Given the description of an element on the screen output the (x, y) to click on. 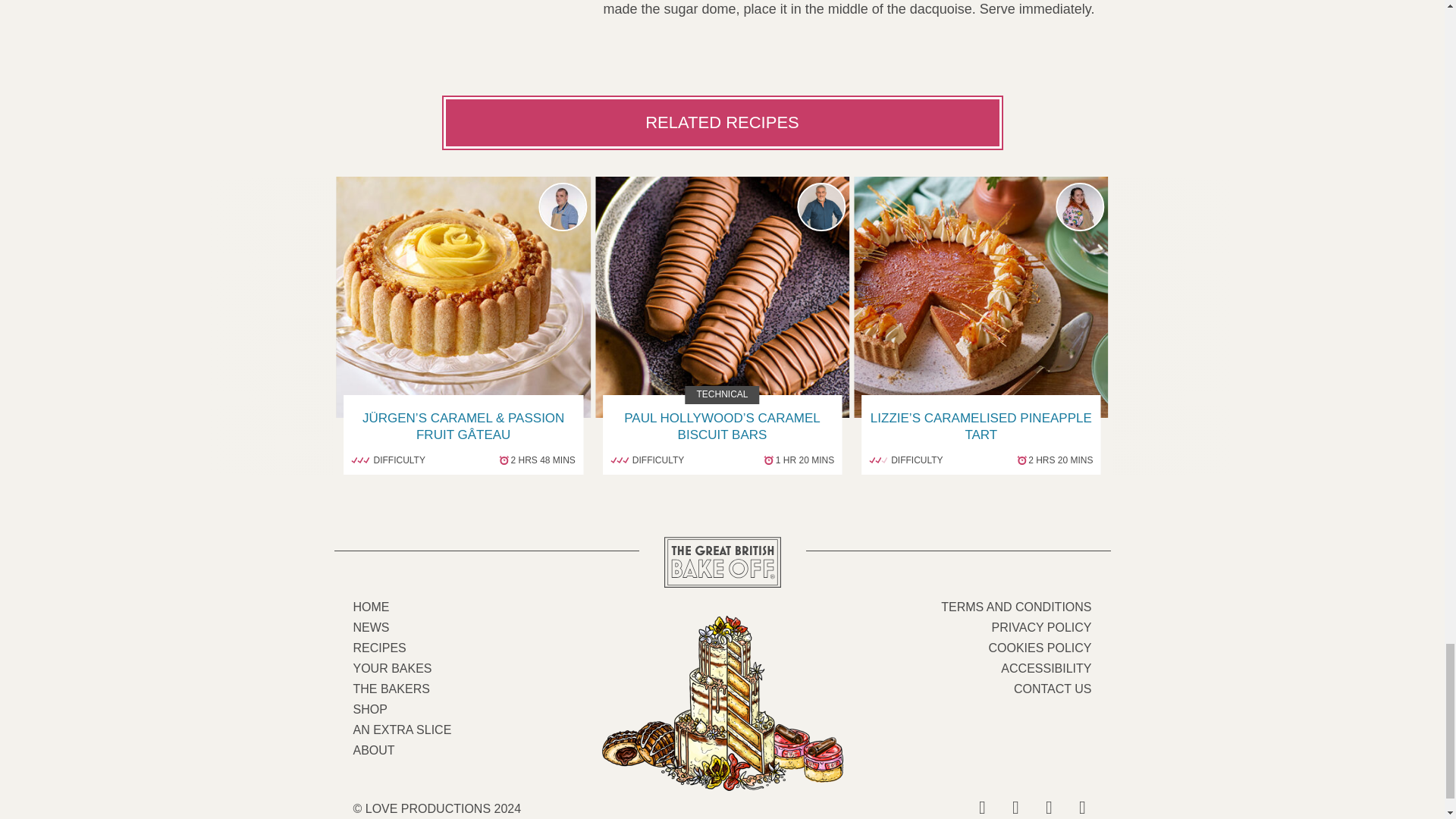
CONTACT US (1052, 688)
THE BAKERS (391, 688)
NEWS (371, 626)
ABOUT (373, 749)
AN EXTRA SLICE (402, 729)
PRIVACY POLICY (1041, 626)
TERMS AND CONDITIONS (1015, 606)
COOKIES POLICY (1039, 647)
HOME (371, 606)
YOUR BAKES (392, 667)
RECIPES (379, 647)
ACCESSIBILITY (1045, 667)
SHOP (370, 708)
